Given the description of an element on the screen output the (x, y) to click on. 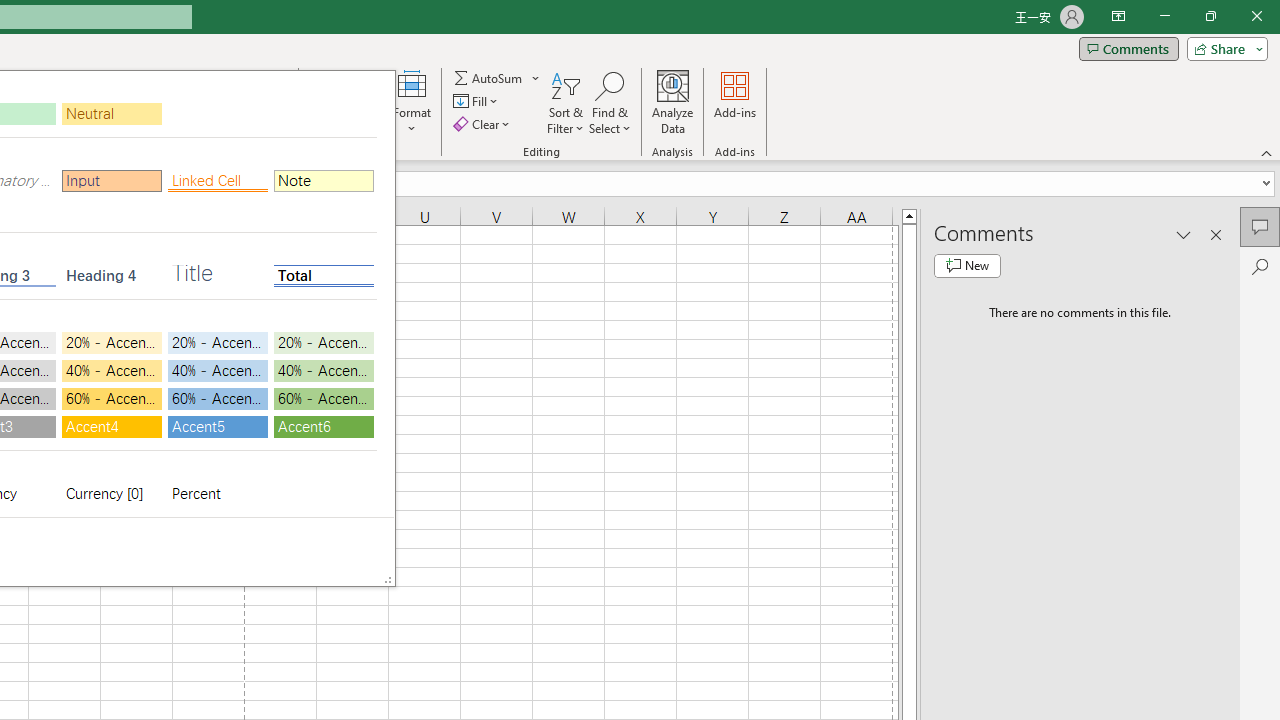
Sum (489, 78)
